Given the description of an element on the screen output the (x, y) to click on. 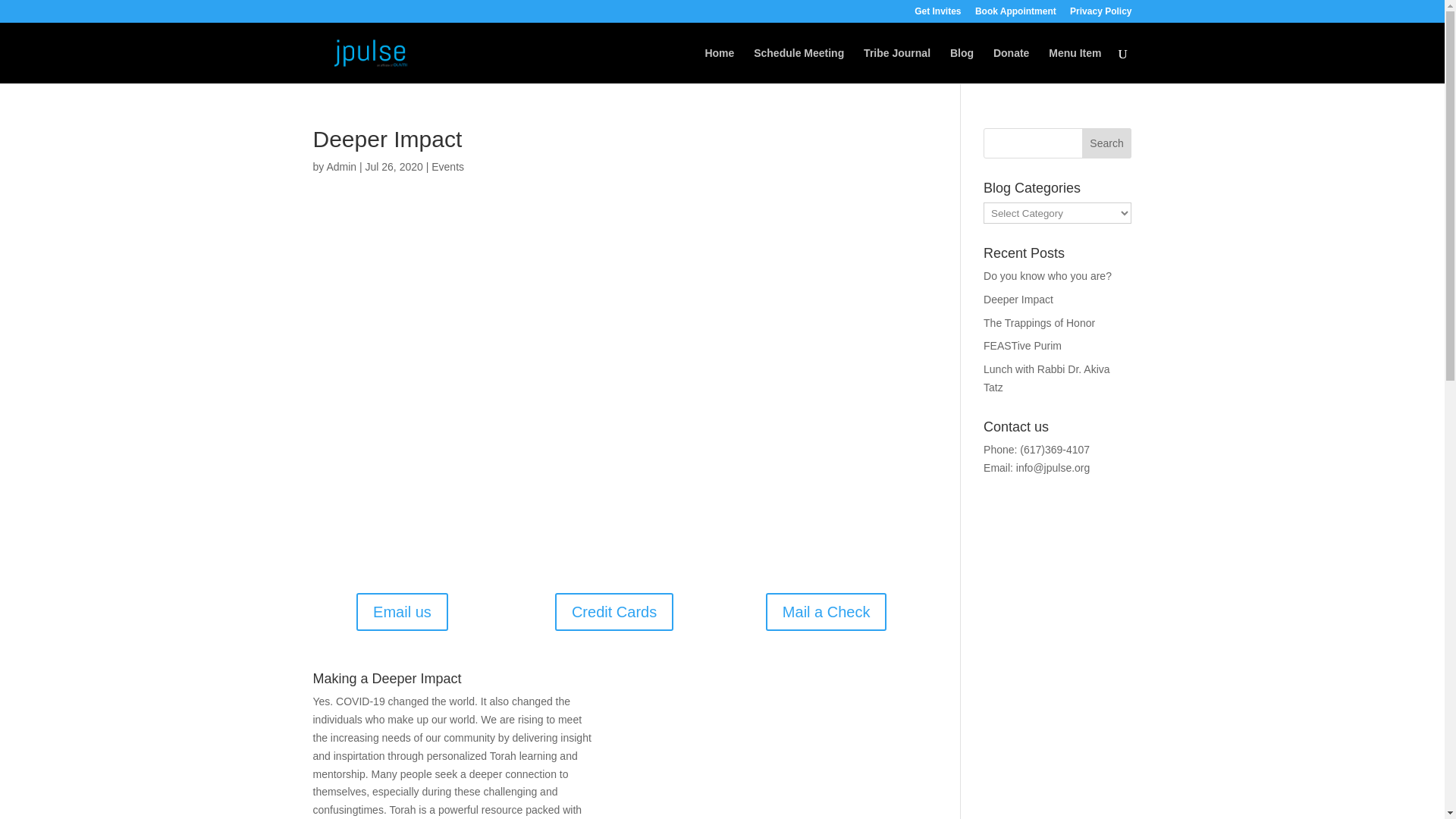
Admin (341, 166)
Search (1106, 142)
Lunch with Rabbi Dr. Akiva Tatz (1046, 378)
Tribe Journal (896, 65)
The Trappings of Honor (1039, 322)
Book Appointment (1016, 14)
Credit Cards (613, 611)
Deeper Impact (1018, 299)
Privacy Policy (1100, 14)
Get Invites (937, 14)
